Given the description of an element on the screen output the (x, y) to click on. 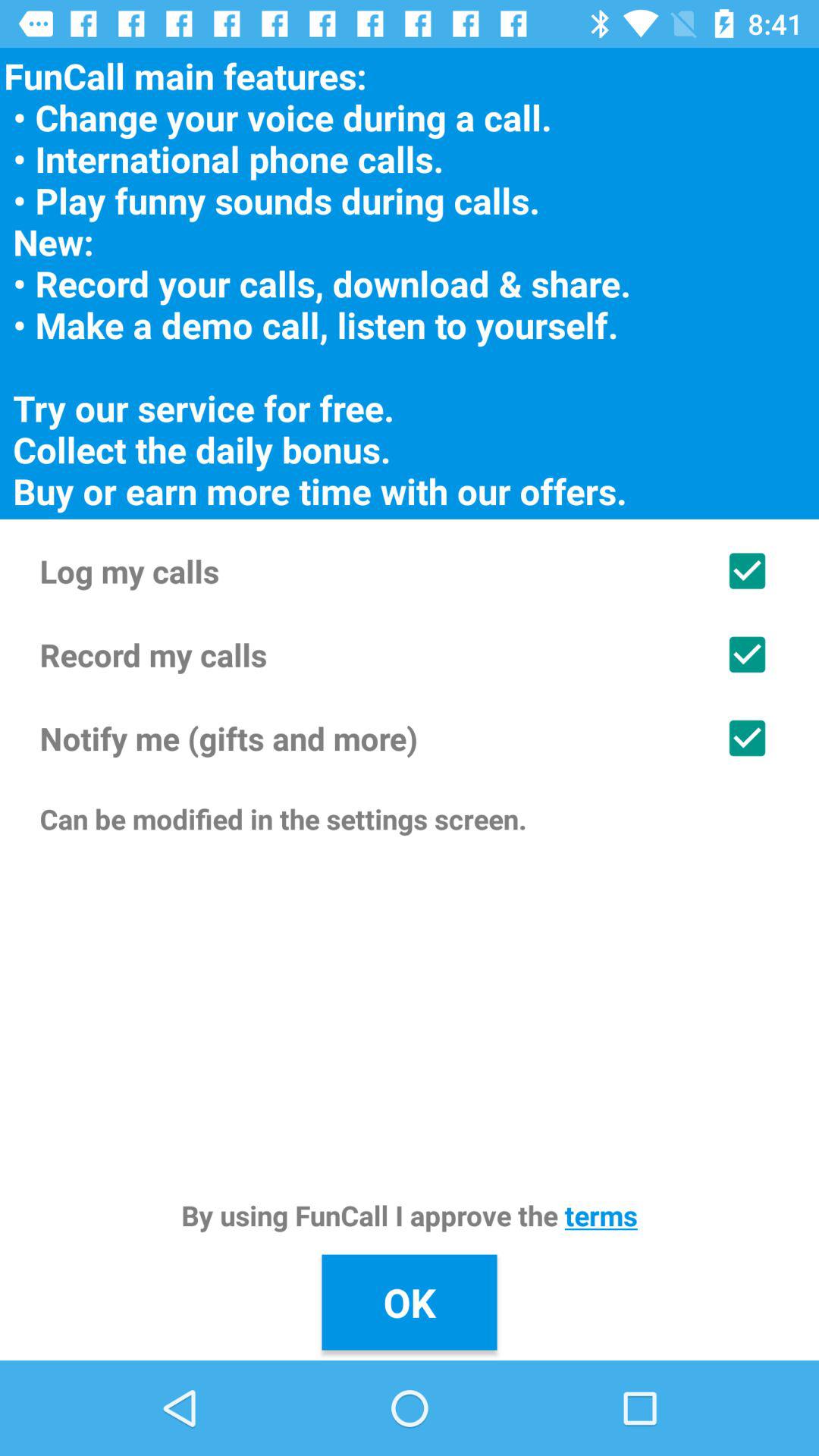
jump until by using funcall icon (409, 1215)
